Given the description of an element on the screen output the (x, y) to click on. 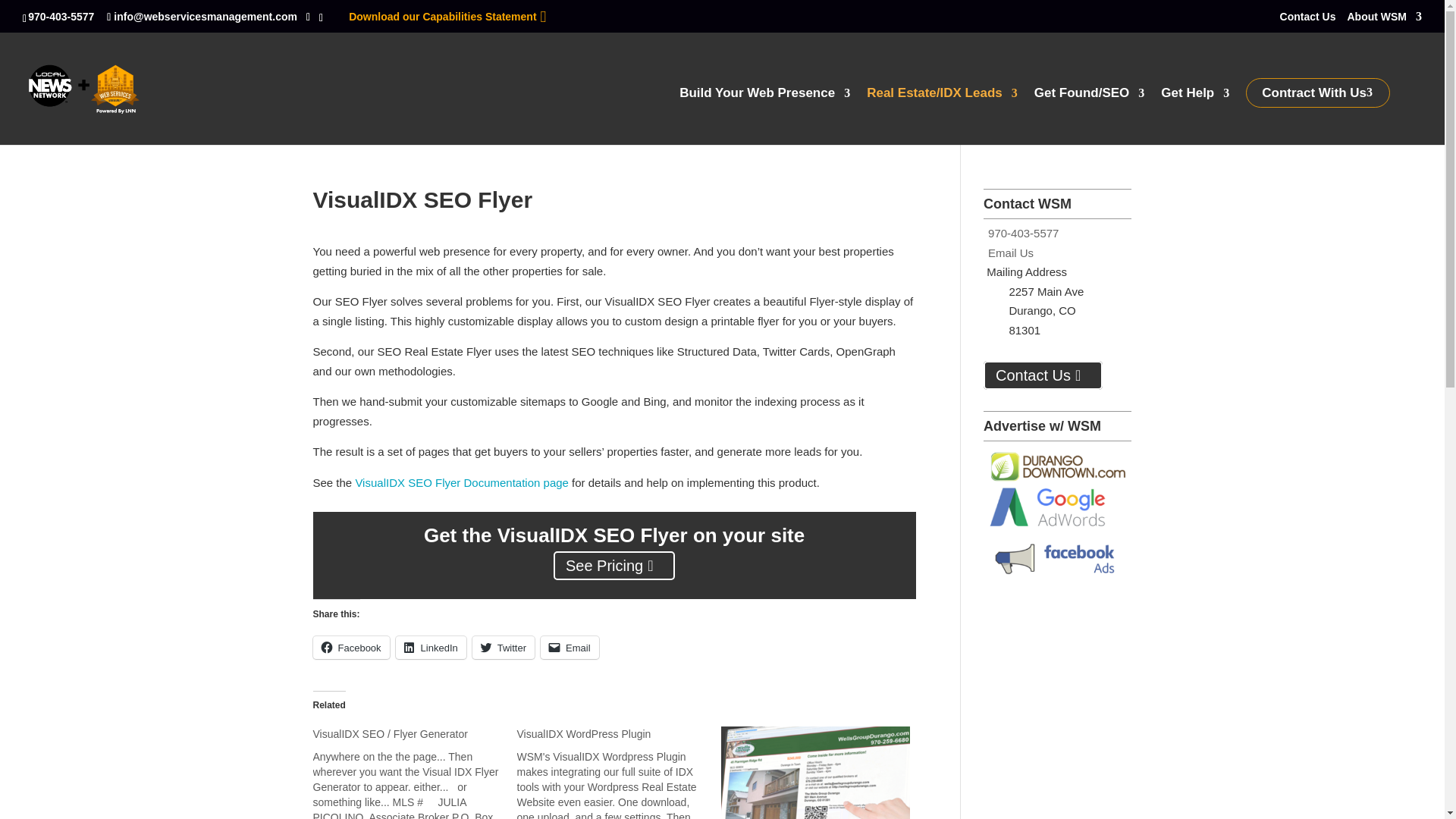
Click to share on Twitter (502, 647)
Click to share on Facebook (350, 647)
VisualIDX WordPress Plugin (618, 772)
Download our Capabilities Statement (442, 16)
Click to email a link to a friend (569, 647)
Get Help (1194, 115)
VisualIDX WordPress Plugin (583, 734)
Build Your Web Presence (764, 115)
970-403-5577 (63, 16)
About WSM (1384, 19)
Contact Us (1307, 19)
VisualIDX Kiosk (814, 772)
Click to share on LinkedIn (430, 647)
